Given the description of an element on the screen output the (x, y) to click on. 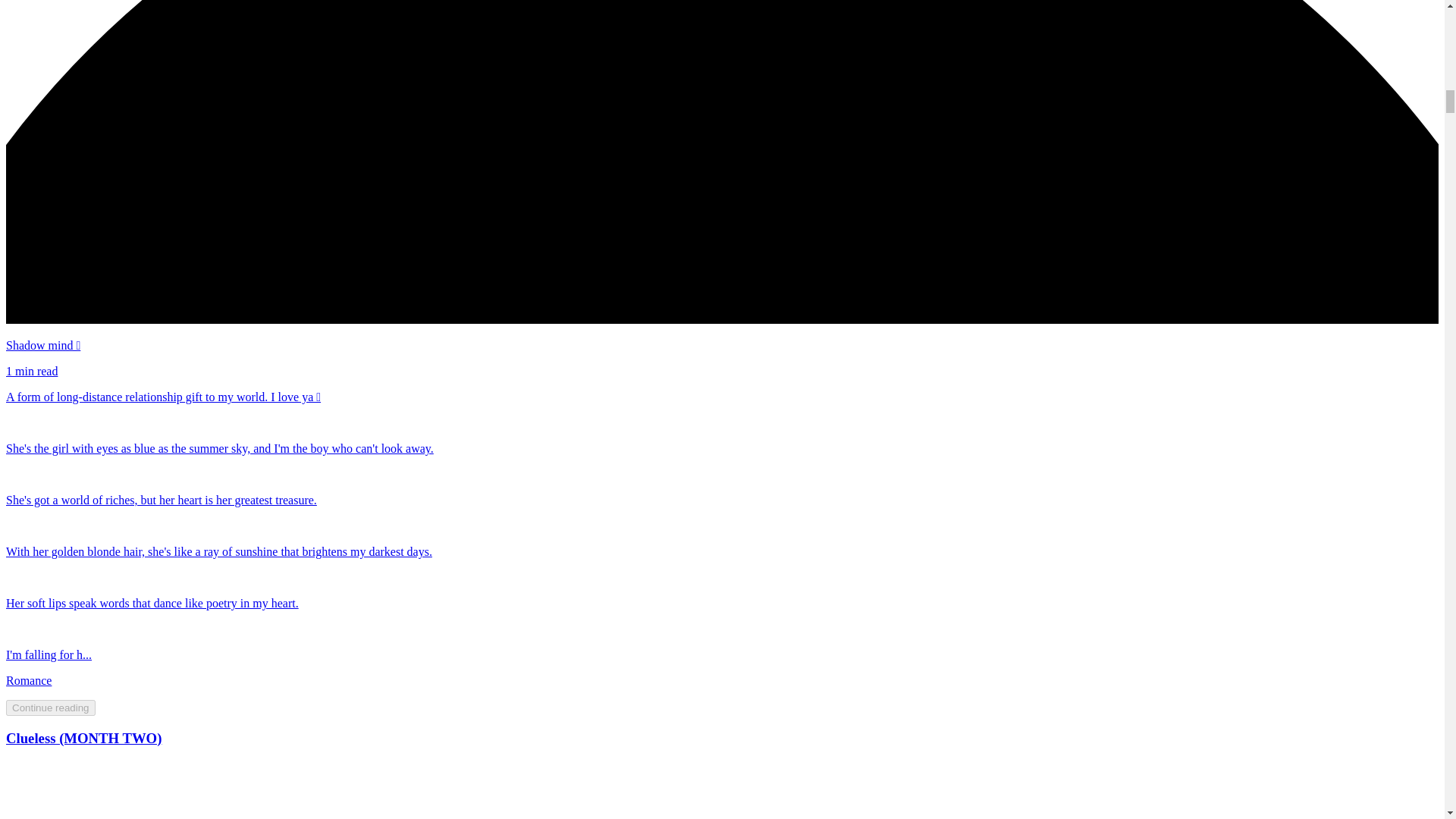
Continue reading (50, 707)
Continue reading (50, 707)
